Given the description of an element on the screen output the (x, y) to click on. 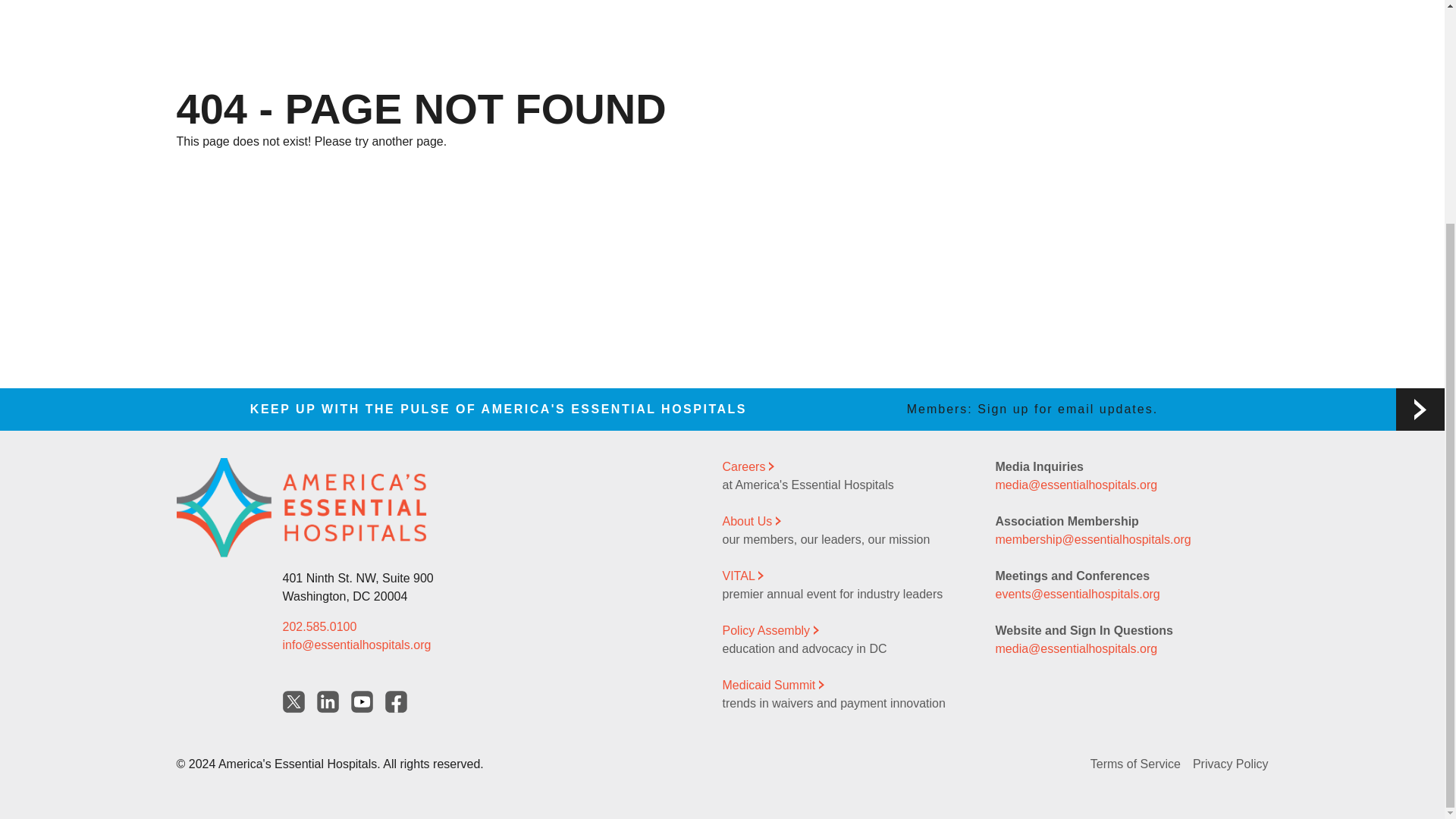
202.585.0100 (319, 626)
